Given the description of an element on the screen output the (x, y) to click on. 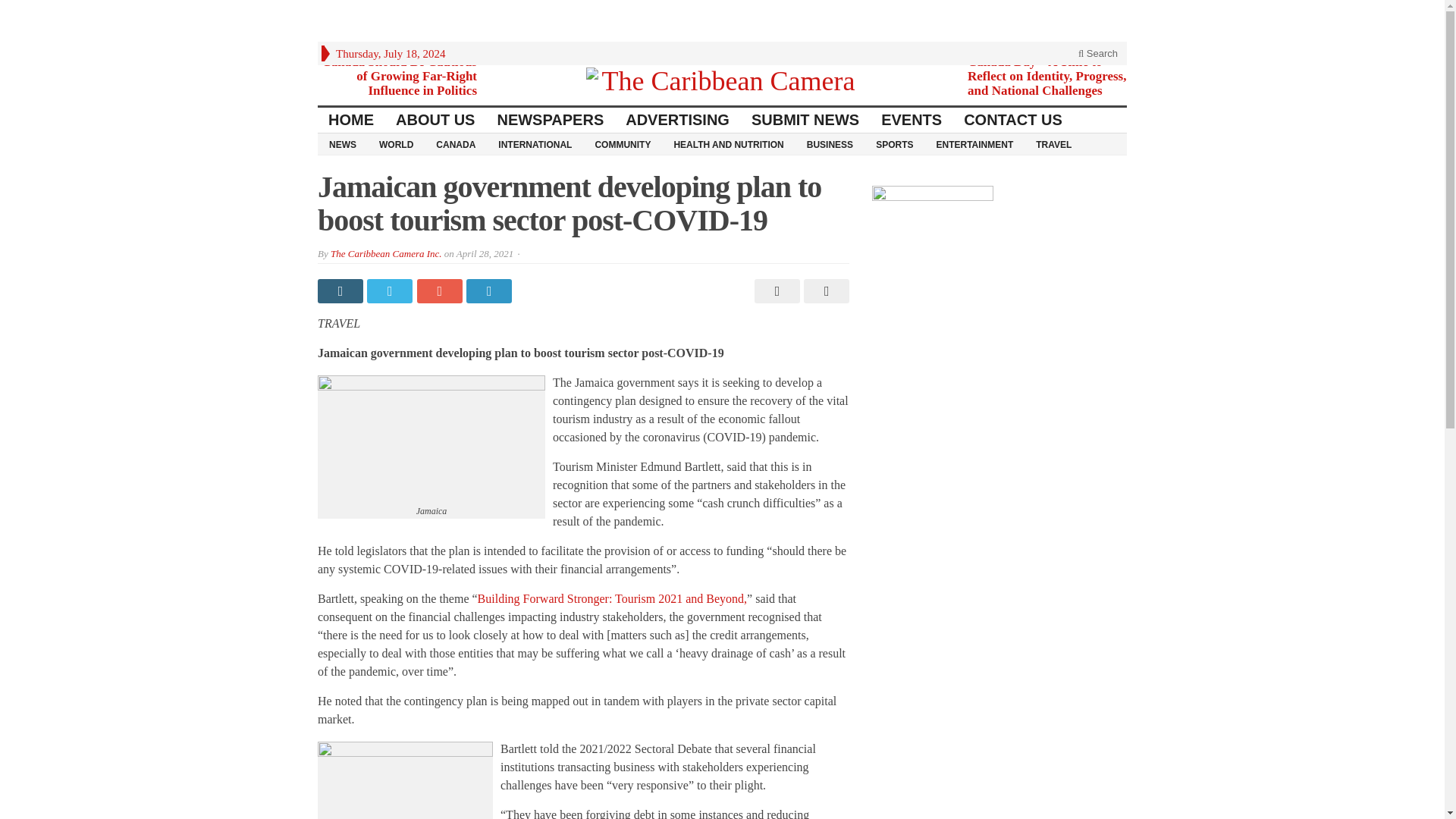
ADVERTISING (677, 119)
SUBMIT NEWS (805, 119)
WORLD (396, 143)
Many People One Magazine (722, 81)
HOME (351, 119)
NEWSPAPERS (550, 119)
Search (1097, 53)
CONTACT US (1013, 119)
NEWS (342, 143)
ABOUT US (435, 119)
EVENTS (911, 119)
